Given the description of an element on the screen output the (x, y) to click on. 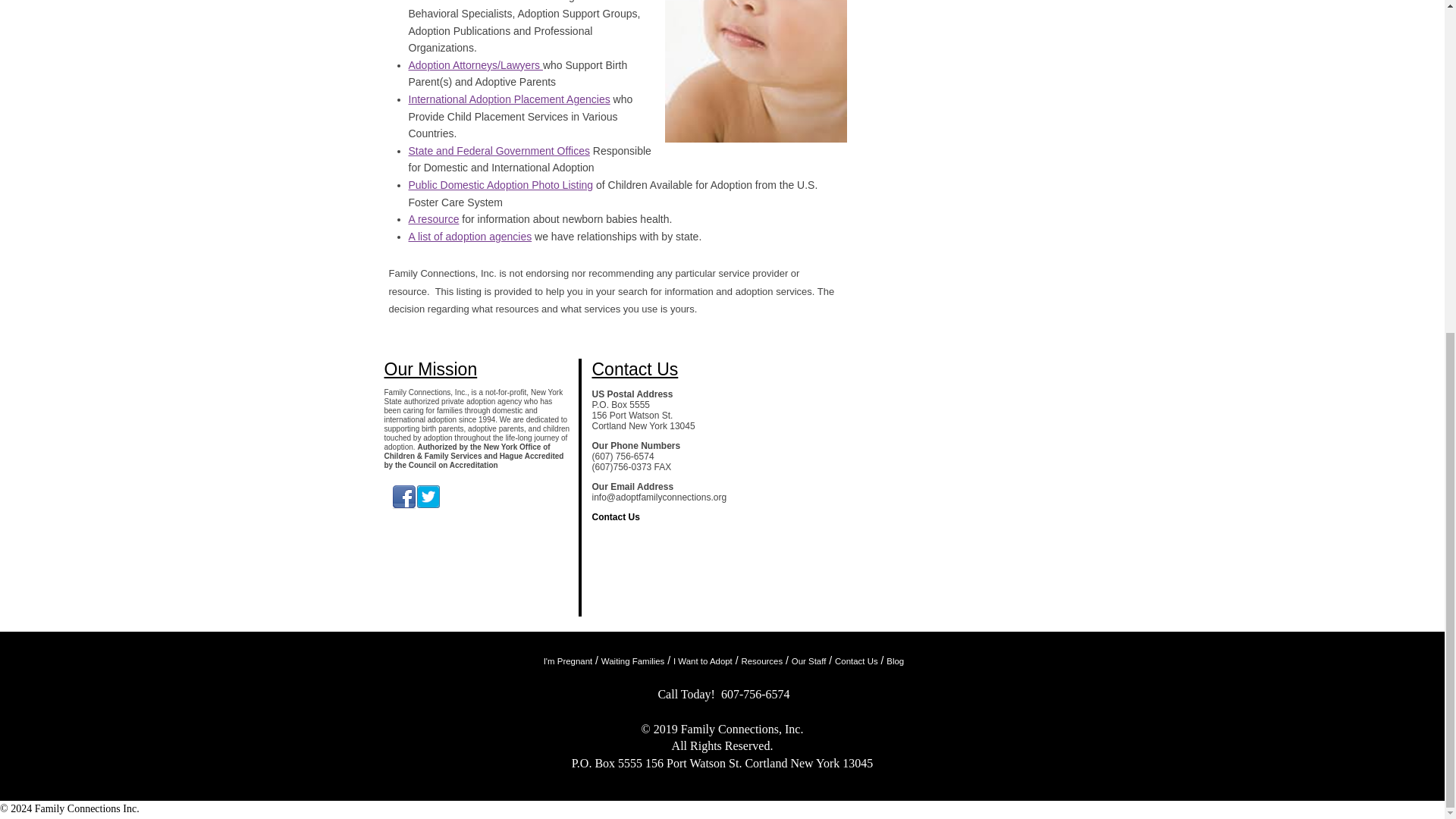
A resource (432, 218)
Public Domestic Adoption Photo Listing (499, 184)
Contact Us (615, 516)
Follow us on Twitter (426, 497)
A list of adoption agencies (469, 236)
State and Federal Government Offices (498, 150)
Follow us on Facebook (402, 497)
International Adoption Placement Agencies (508, 99)
International Adoption Placement Agencies (508, 99)
Public Domestic Adoption Photo Listing (499, 184)
State and Federal Government Offices (498, 150)
